Given the description of an element on the screen output the (x, y) to click on. 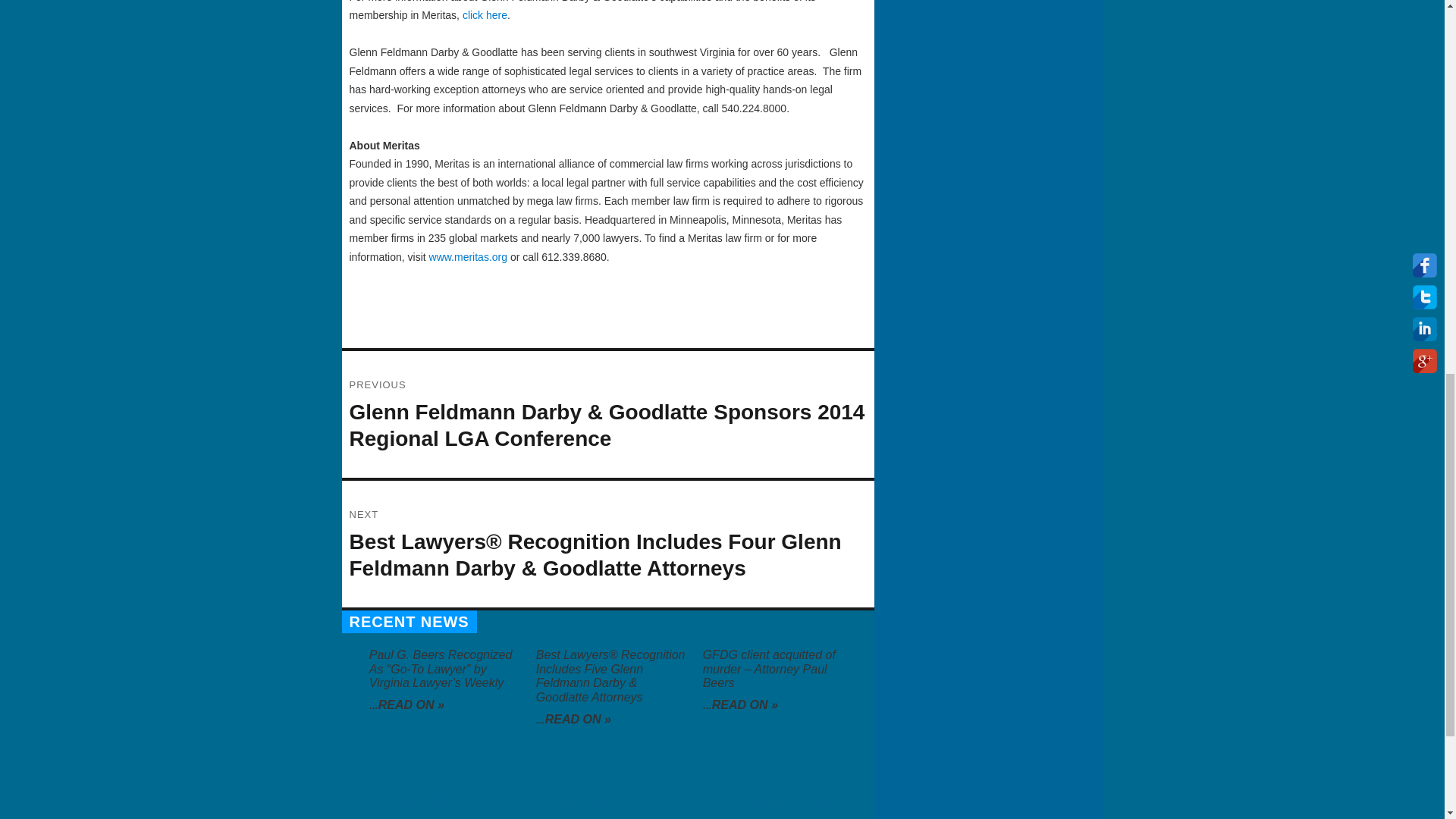
click here (484, 15)
www.meritas.org (467, 256)
Meritas (484, 15)
